Given the description of an element on the screen output the (x, y) to click on. 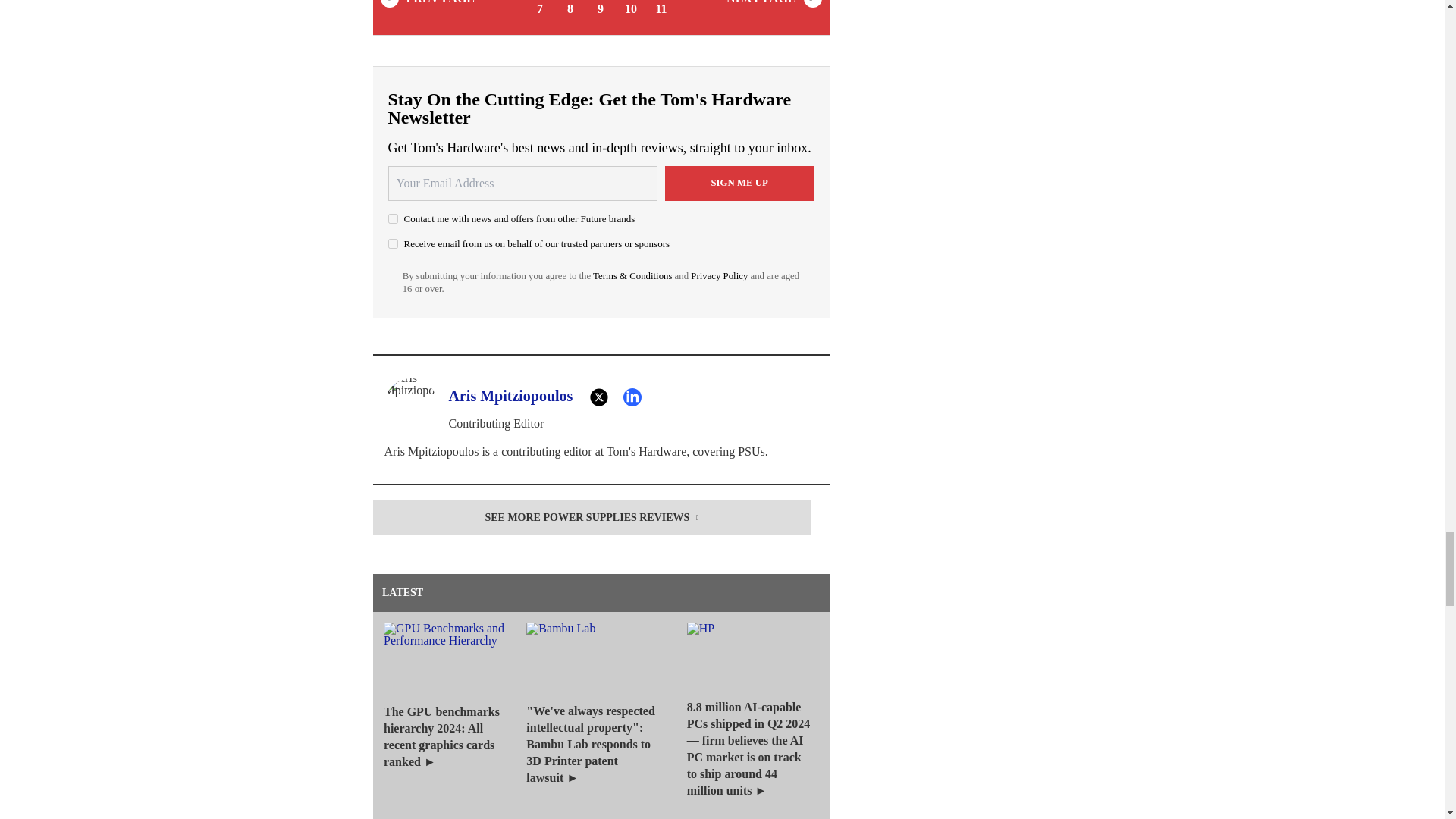
on (392, 243)
Sign me up (739, 183)
on (392, 218)
